Given the description of an element on the screen output the (x, y) to click on. 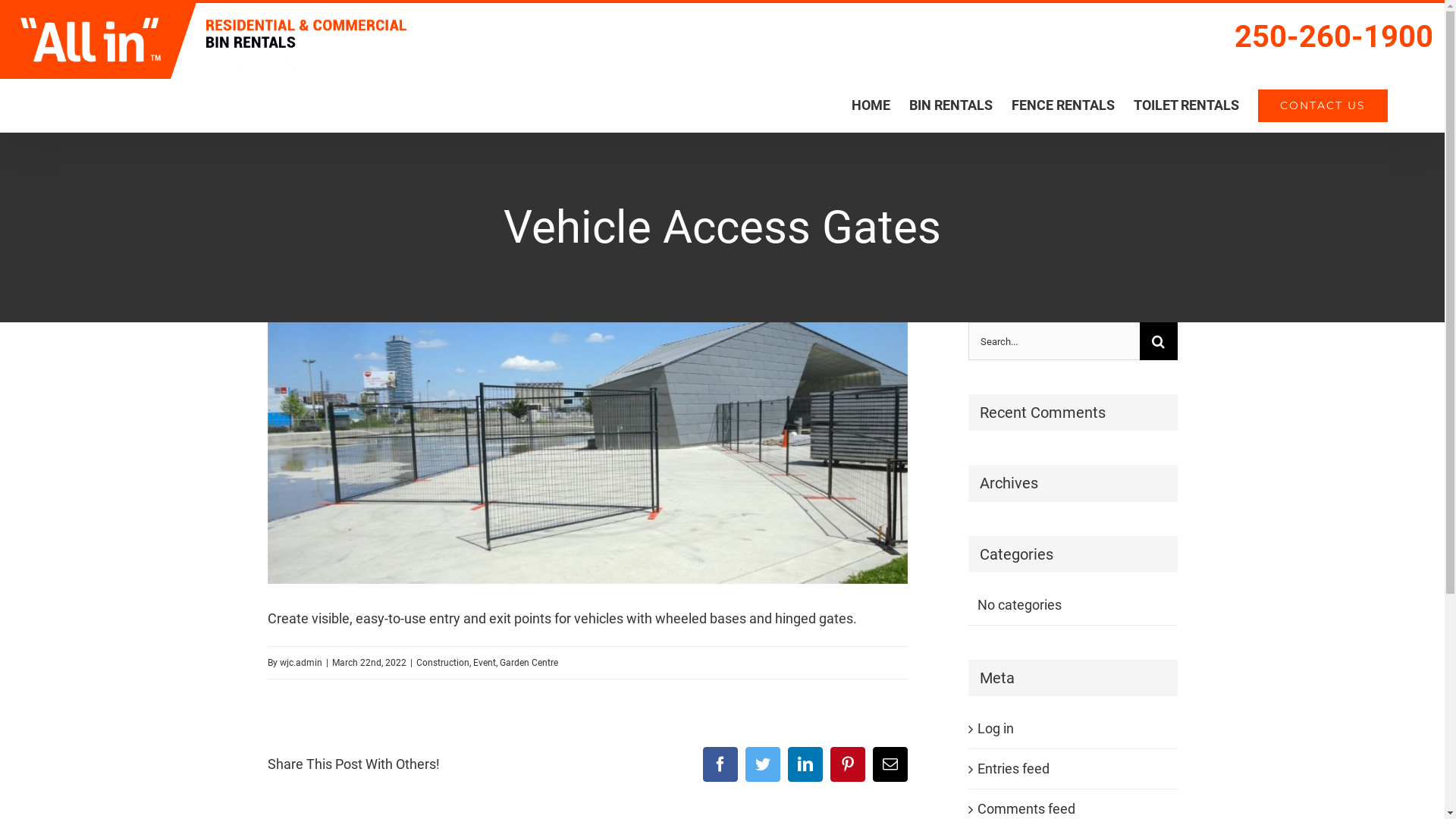
Log in Element type: text (994, 728)
Comments feed Element type: text (1025, 808)
FENCE RENTALS Element type: text (1062, 104)
TOILET RENTALS Element type: text (1186, 104)
LinkedIn Element type: text (804, 763)
Twitter Element type: text (761, 763)
Construction Element type: text (441, 662)
BIN RENTALS Element type: text (950, 104)
View Larger Image Element type: text (586, 452)
Facebook Element type: text (719, 763)
Event Element type: text (484, 662)
HOME Element type: text (870, 104)
Garden Centre Element type: text (527, 662)
wjc.admin Element type: text (300, 662)
Entries feed Element type: text (1012, 768)
Email Element type: text (889, 763)
CONTACT US Element type: text (1322, 104)
Pinterest Element type: text (846, 763)
250-260-1900 Element type: text (1333, 37)
